Given the description of an element on the screen output the (x, y) to click on. 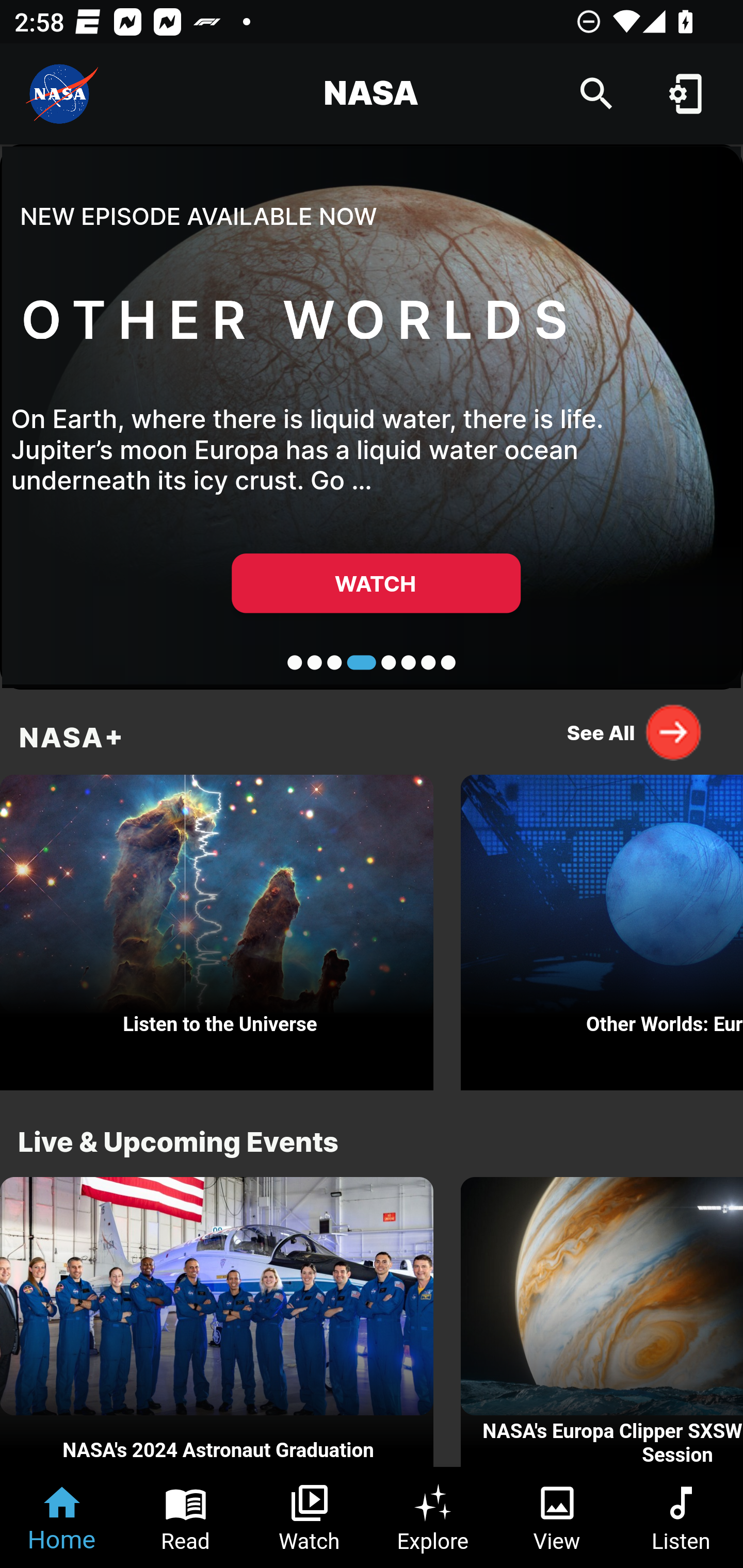
WATCH (375, 583)
See All (634, 732)
Listen to the Universe (216, 927)
Other Worlds: Europa (601, 927)
NASA's 2024 Astronaut Graduation (216, 1322)
NASA's Europa Clipper SXSW 2024 Opening Session (601, 1322)
Home
Tab 1 of 6 (62, 1517)
Read
Tab 2 of 6 (185, 1517)
Watch
Tab 3 of 6 (309, 1517)
Explore
Tab 4 of 6 (433, 1517)
View
Tab 5 of 6 (556, 1517)
Listen
Tab 6 of 6 (680, 1517)
